Given the description of an element on the screen output the (x, y) to click on. 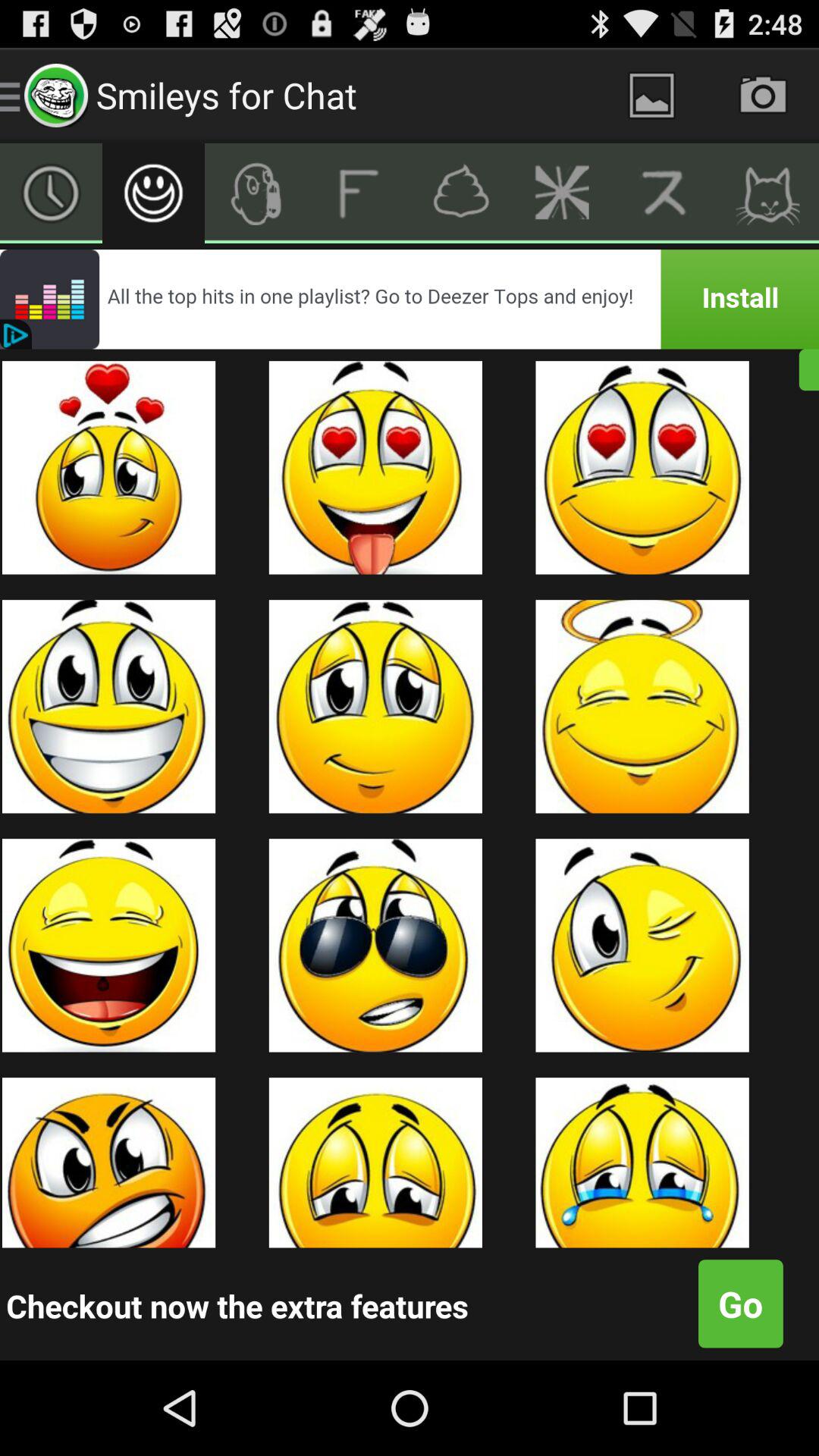
display advertisement (409, 299)
